Given the description of an element on the screen output the (x, y) to click on. 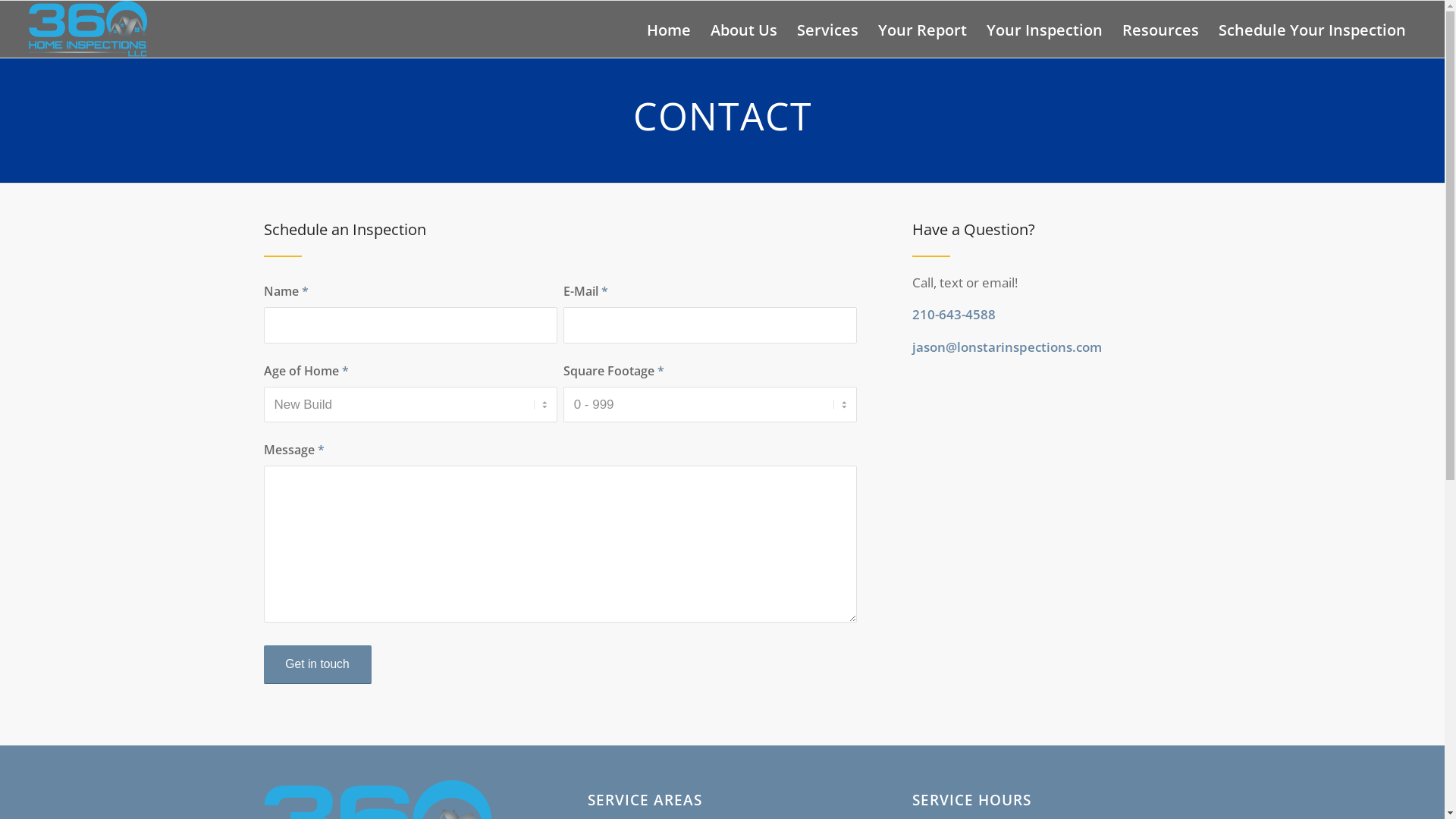
About Us Element type: text (743, 29)
Home Element type: text (668, 29)
Schedule Your Inspection Element type: text (1311, 29)
Get in touch Element type: text (317, 664)
jason@lonstarinspections.com Element type: text (1006, 346)
210-643-4588 Element type: text (953, 314)
Your Inspection Element type: text (1044, 29)
Services Element type: text (827, 29)
Your Report Element type: text (922, 29)
Resources Element type: text (1160, 29)
